Given the description of an element on the screen output the (x, y) to click on. 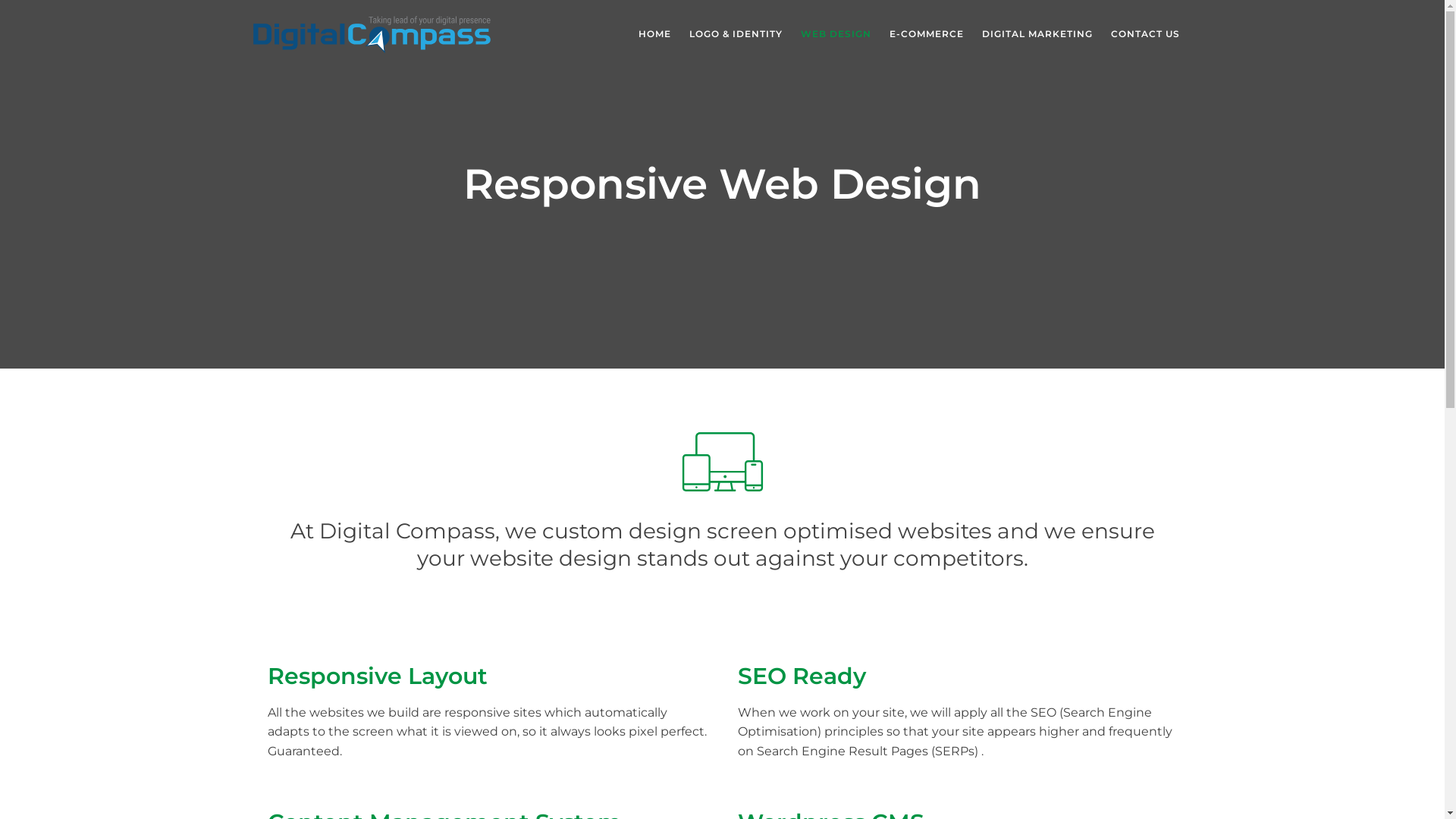
E-COMMERCE Element type: text (925, 34)
WEB DESIGN Element type: text (835, 34)
DIGITAL MARKETING Element type: text (1036, 34)
HOME Element type: text (654, 34)
LOGO & IDENTITY Element type: text (734, 34)
CONTACT US Element type: text (1144, 34)
